Given the description of an element on the screen output the (x, y) to click on. 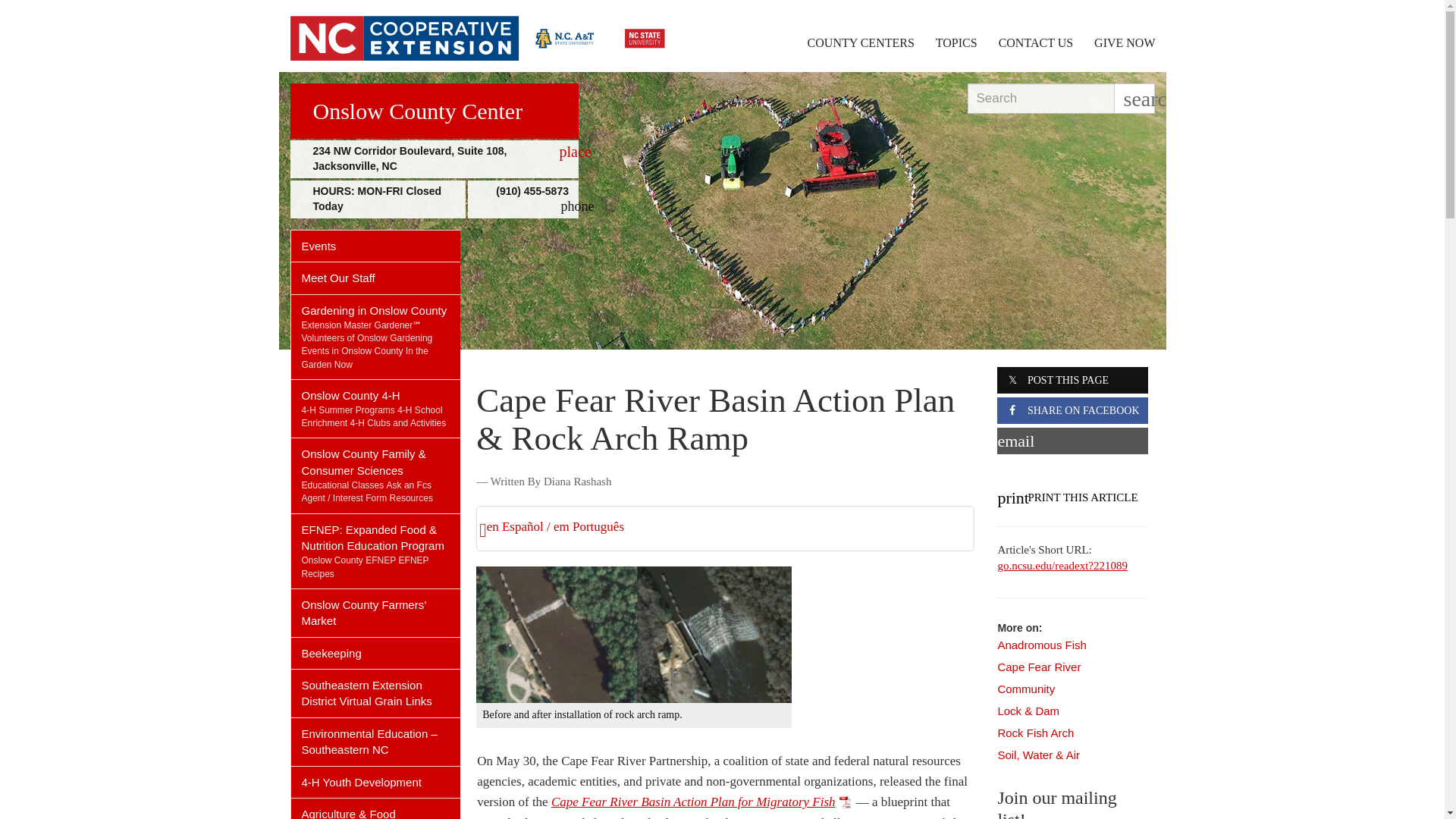
Onslow County EFNEP (348, 560)
Educational Classes (342, 484)
Gardening in Onslow County (376, 306)
Search (1040, 98)
Gardening Events in Onslow County (366, 344)
Events (376, 245)
In the Garden Now (364, 357)
Cape Fear River Action Plan (700, 801)
4-H Youth Development (376, 781)
4-H School Enrichment (371, 416)
4-H Summer Programs (347, 409)
Onslow County Center (433, 110)
Resources (411, 498)
